Given the description of an element on the screen output the (x, y) to click on. 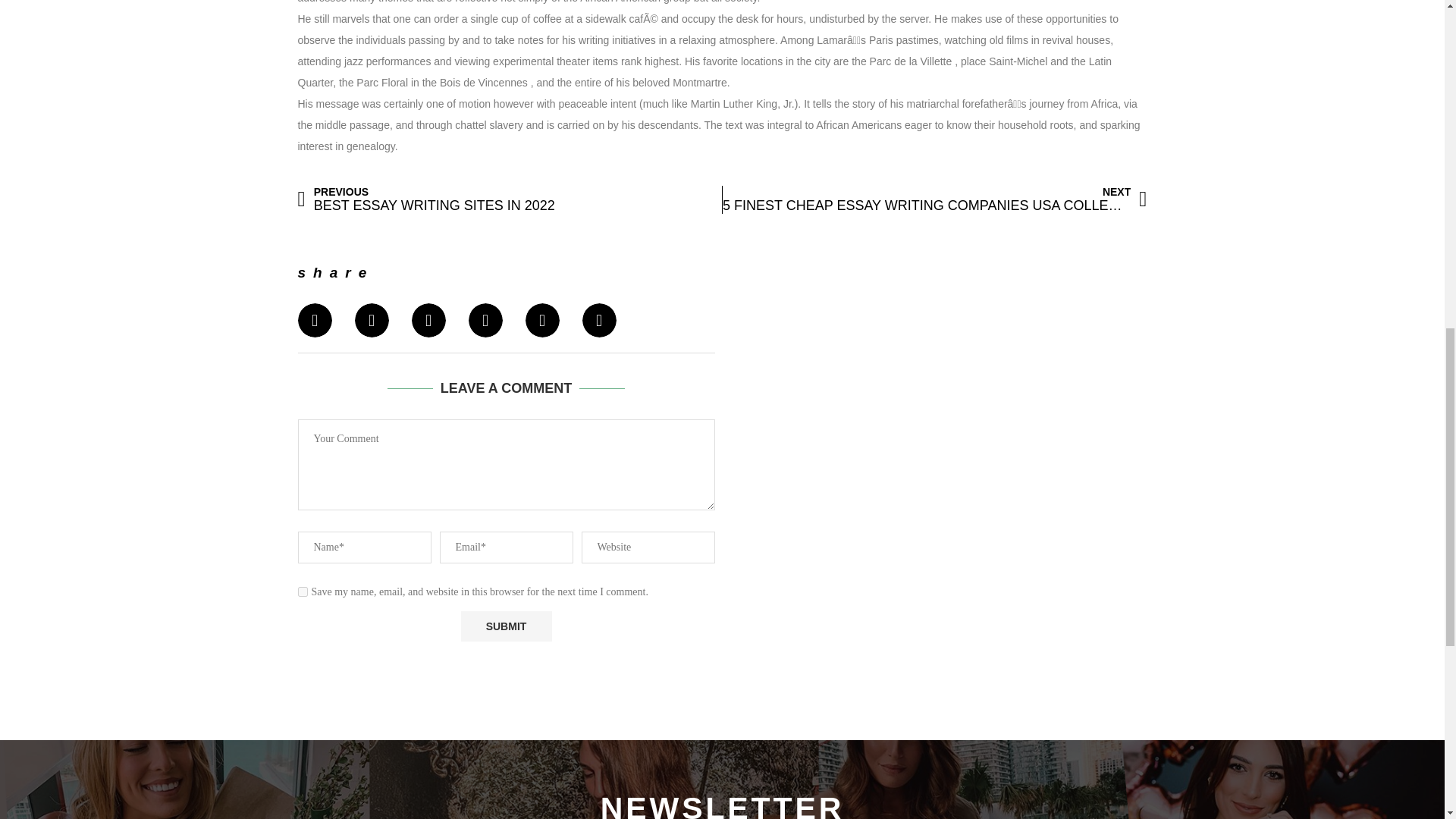
yes (302, 592)
Submit (506, 625)
